Given the description of an element on the screen output the (x, y) to click on. 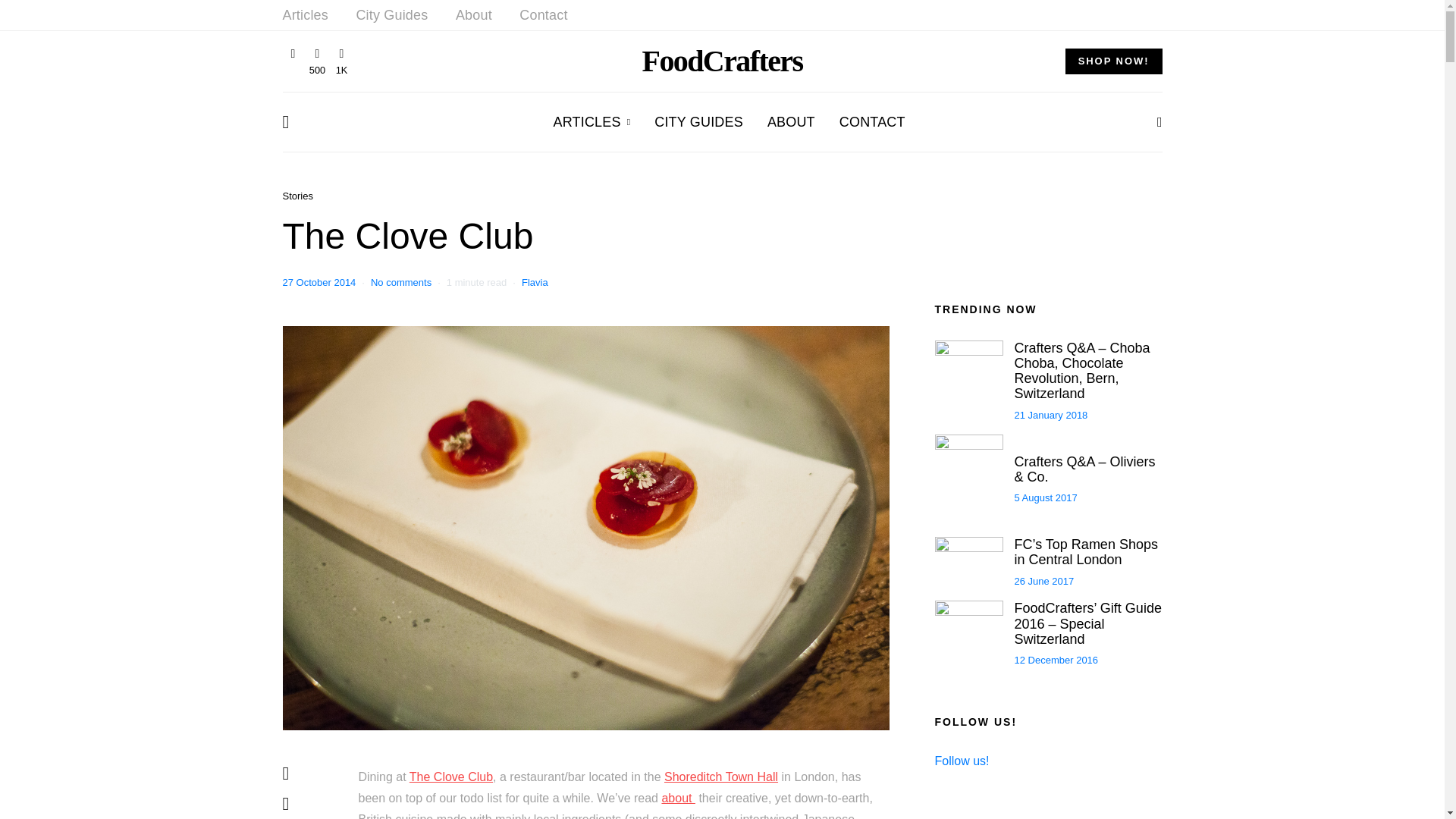
Stories (297, 195)
No comments (400, 282)
27 October 2014 (318, 282)
ARTICLES (591, 121)
Flavia (534, 282)
SHOP NOW! (1113, 61)
CONTACT (872, 121)
About (473, 14)
City Guides (391, 14)
Articles (304, 14)
CITY GUIDES (697, 121)
Contact (543, 14)
View all posts by Flavia (534, 282)
FoodCrafters (722, 60)
